Given the description of an element on the screen output the (x, y) to click on. 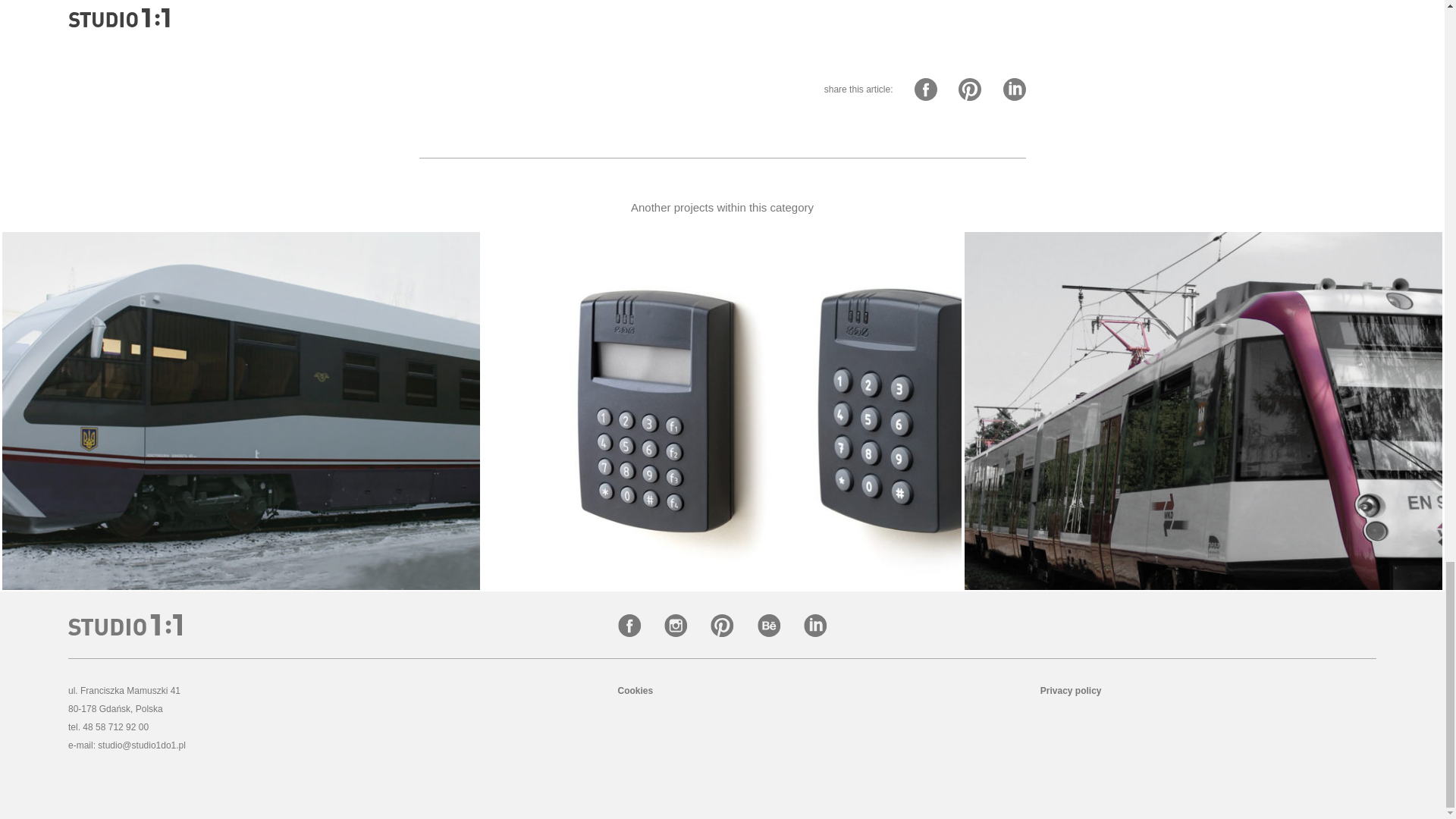
Facebook (630, 627)
Pinterest (723, 627)
Behance (769, 627)
LinkedIn (815, 627)
Instagram (676, 627)
